Given the description of an element on the screen output the (x, y) to click on. 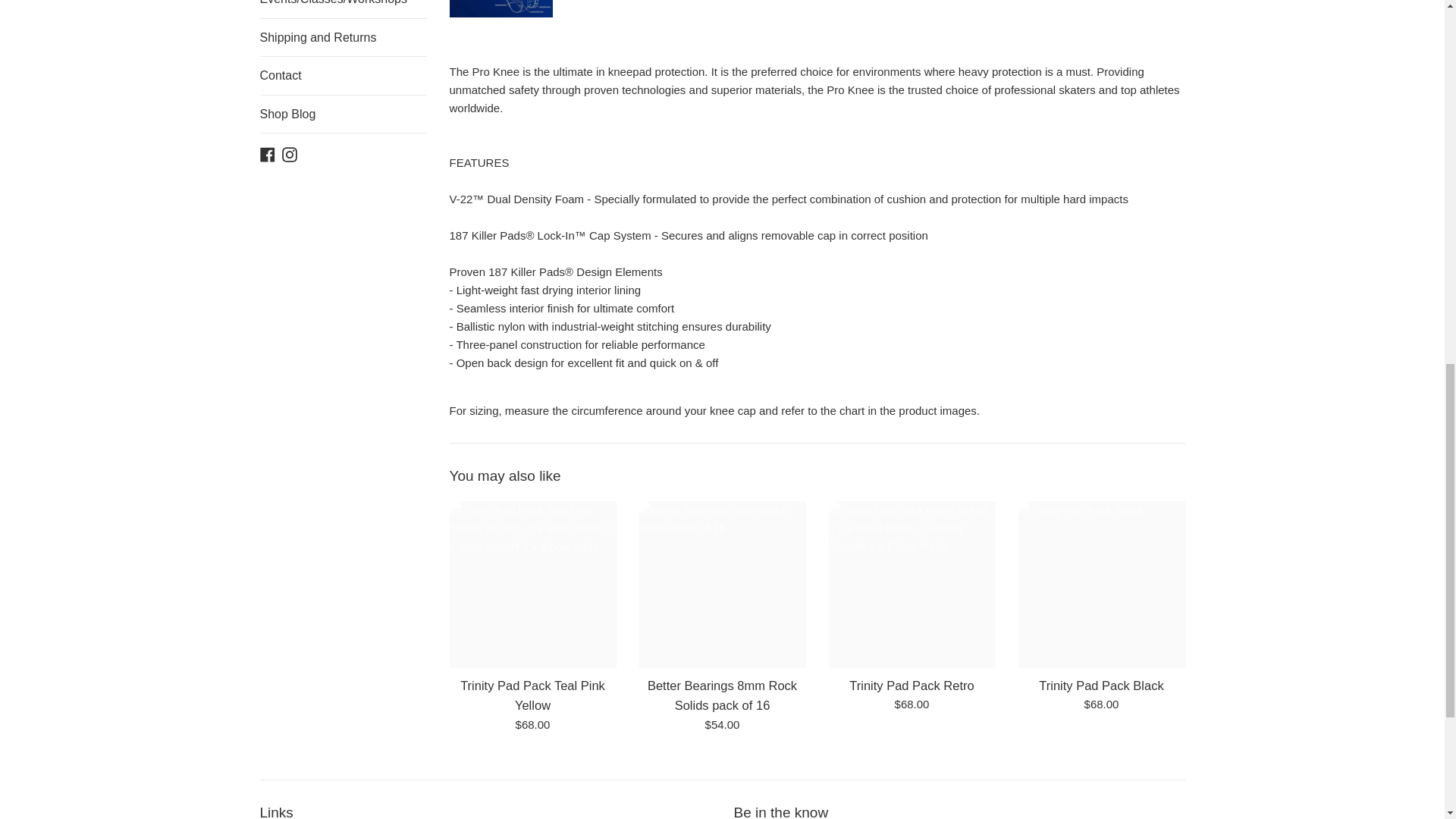
Seaside Skates on Instagram (289, 153)
Seaside Skates on Facebook (267, 153)
Trinity Pad Pack Teal Pink Yellow (531, 584)
Trinity Pad Pack Retro (911, 584)
Better Bearings 8mm Rock Solids pack of 16 (722, 584)
Trinity Pad Pack Black (1101, 584)
